Given the description of an element on the screen output the (x, y) to click on. 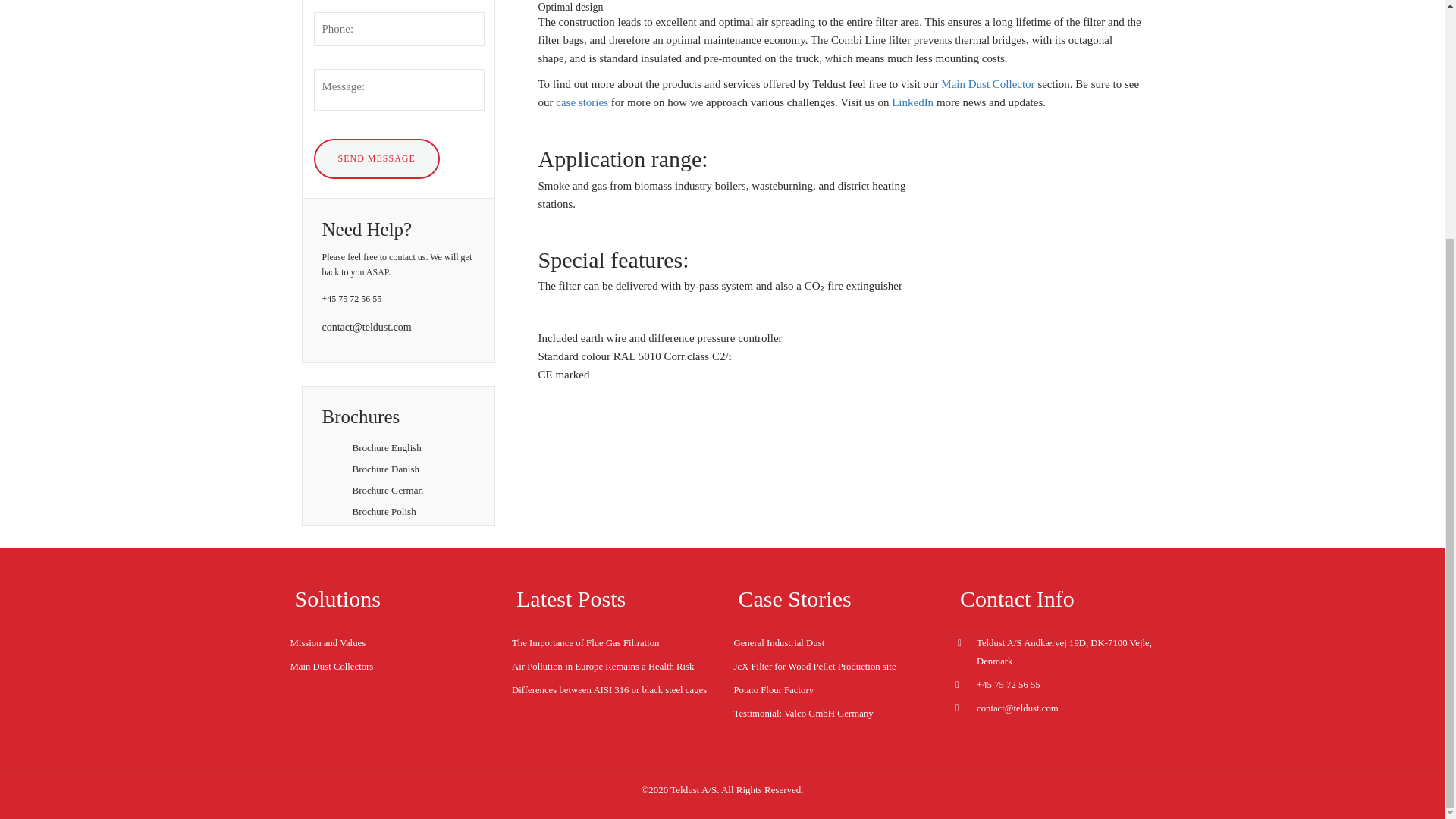
Solutions (336, 598)
LinkedIn (910, 102)
Case Stories (794, 598)
Brochure German (387, 490)
Air Pollution in Europe Remains a Health Risk (603, 665)
Main Dust Collector (987, 83)
Contact Info (1016, 598)
Testimonial: Valco GmbH Germany (803, 713)
Brochure Danish (385, 469)
Differences between AISI 316 or black steel cages (609, 689)
Mission and Values (327, 643)
Send Message (376, 158)
Brochure Polish (383, 511)
The Importance of Flue Gas Filtration (585, 643)
Brochure English (386, 447)
